Given the description of an element on the screen output the (x, y) to click on. 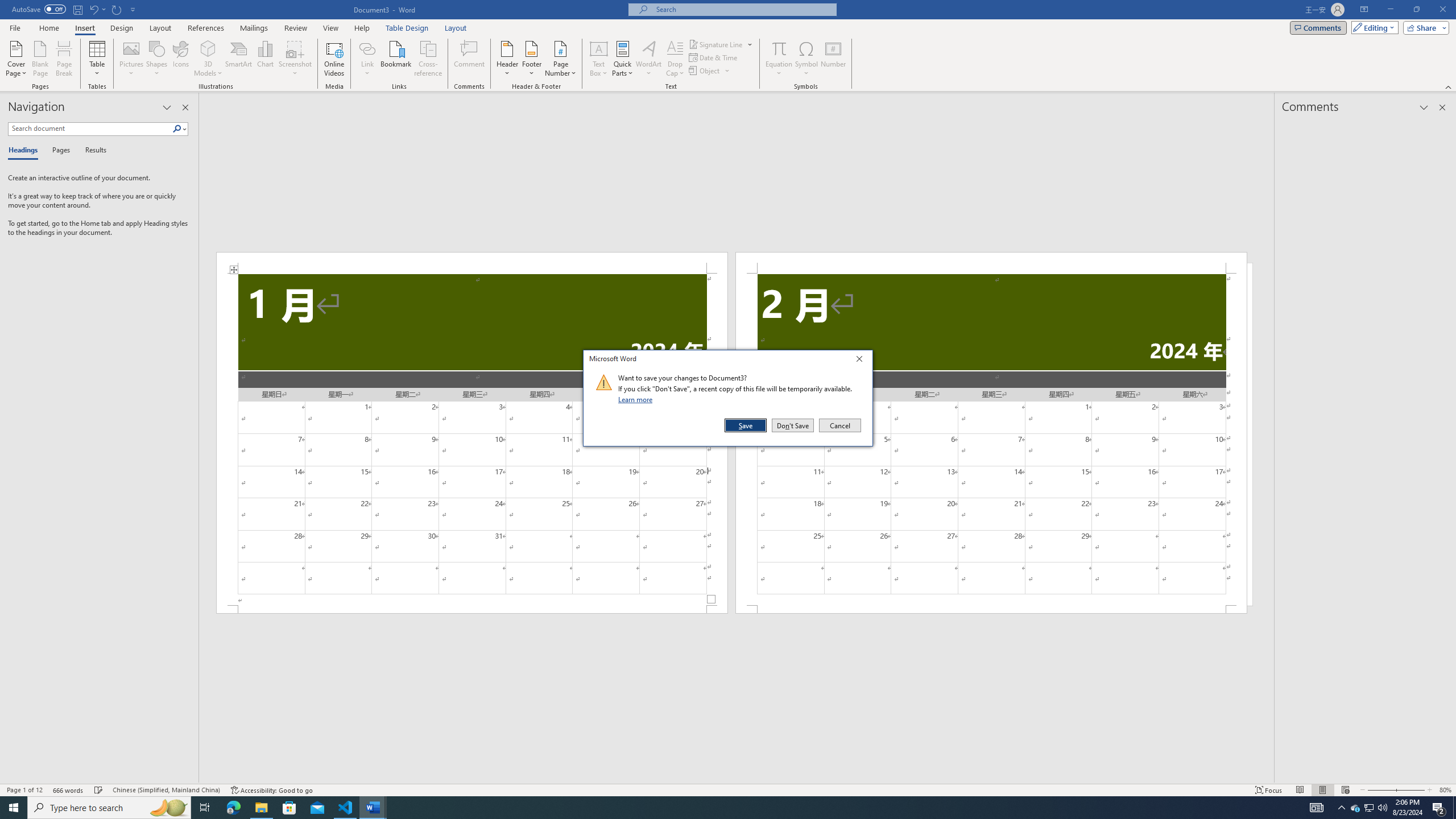
Task Pane Options (167, 107)
Quick Parts (622, 58)
Zoom Out (1378, 790)
Pages (59, 150)
Action Center, 2 new notifications (1439, 807)
Page Number Page 1 of 12 (24, 790)
Table Design (407, 28)
Word - 2 running windows (373, 807)
Show desktop (1454, 807)
Icons (180, 58)
AutoSave (38, 9)
Mailings (253, 28)
Language Chinese (Simplified, Mainland China) (165, 790)
Class: MsoCommandBar (728, 789)
Word Count 666 words (68, 790)
